Given the description of an element on the screen output the (x, y) to click on. 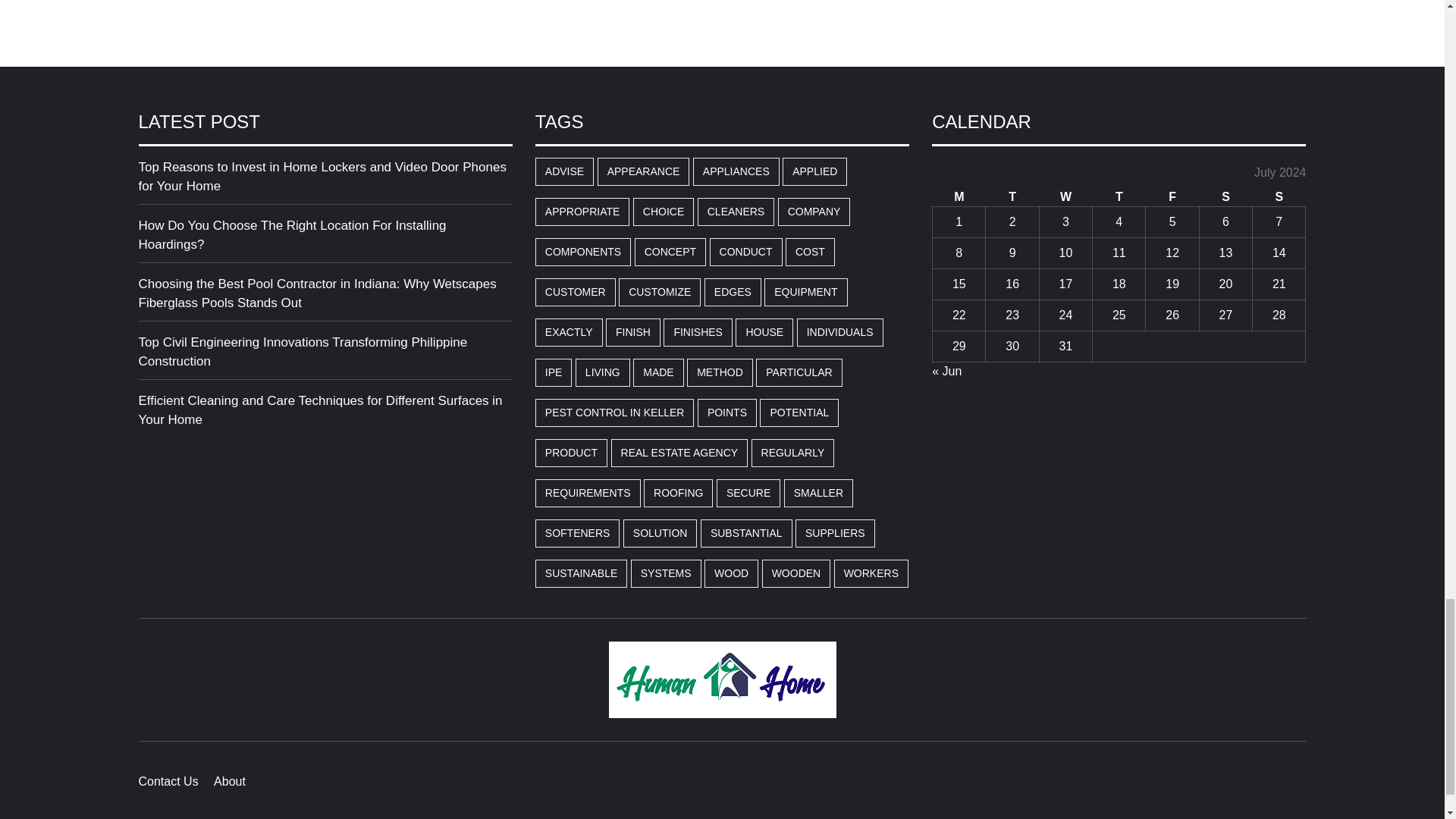
Tuesday (1012, 197)
Wednesday (1065, 197)
Saturday (1225, 197)
Sunday (1279, 197)
Friday (1171, 197)
Thursday (1119, 197)
Monday (959, 197)
